Given the description of an element on the screen output the (x, y) to click on. 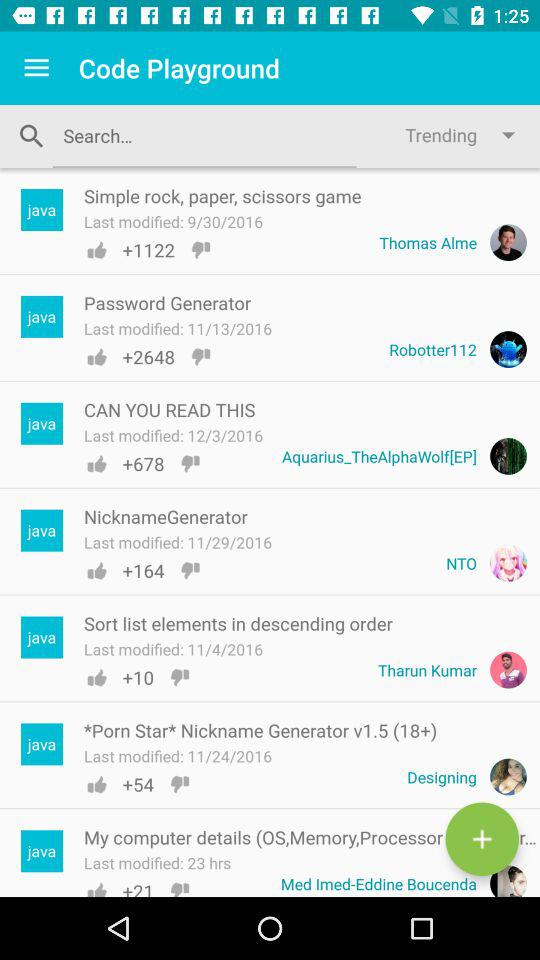
go to search (482, 839)
